Given the description of an element on the screen output the (x, y) to click on. 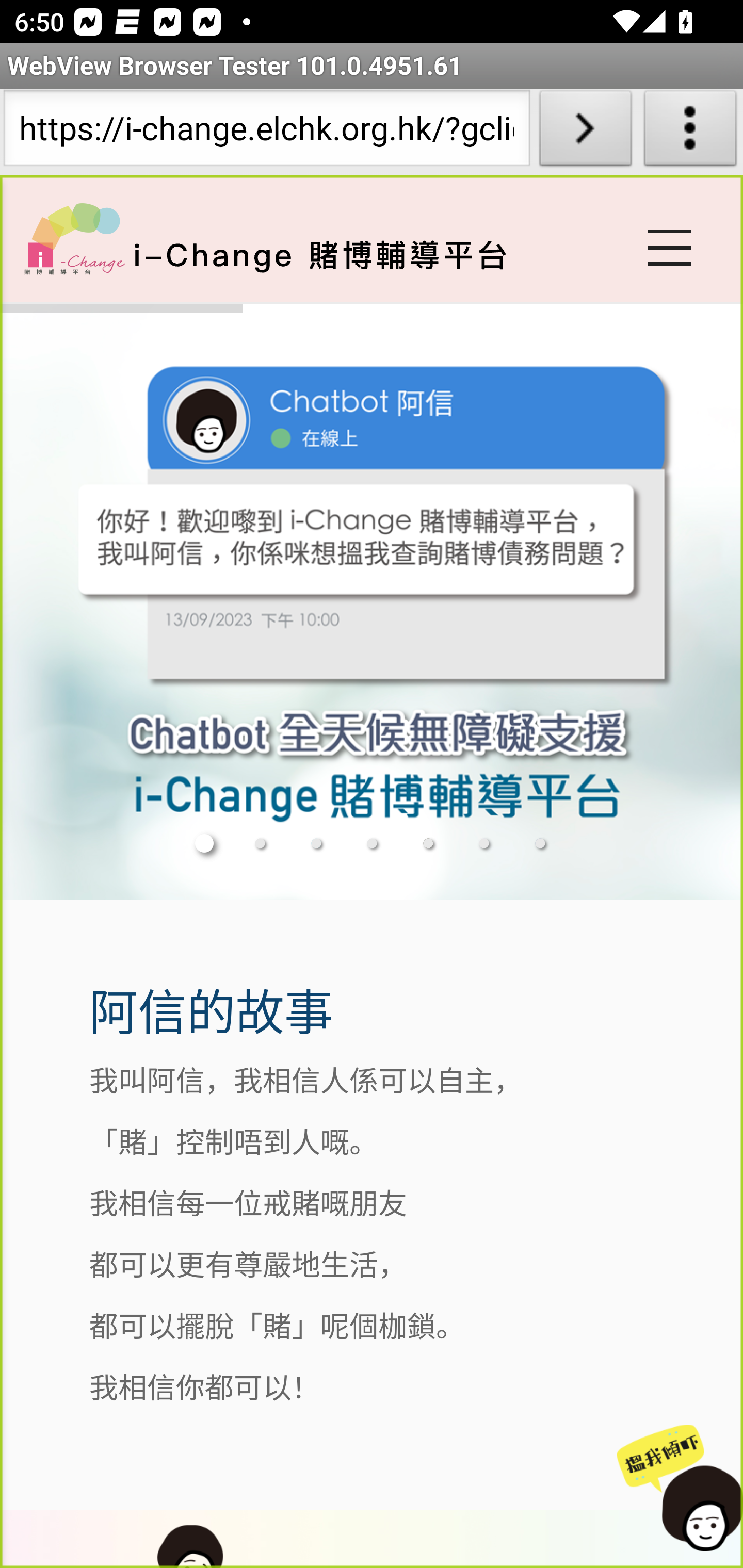
Load URL (585, 132)
About WebView (690, 132)
Home (74, 238)
Chat Now (674, 1488)
